Given the description of an element on the screen output the (x, y) to click on. 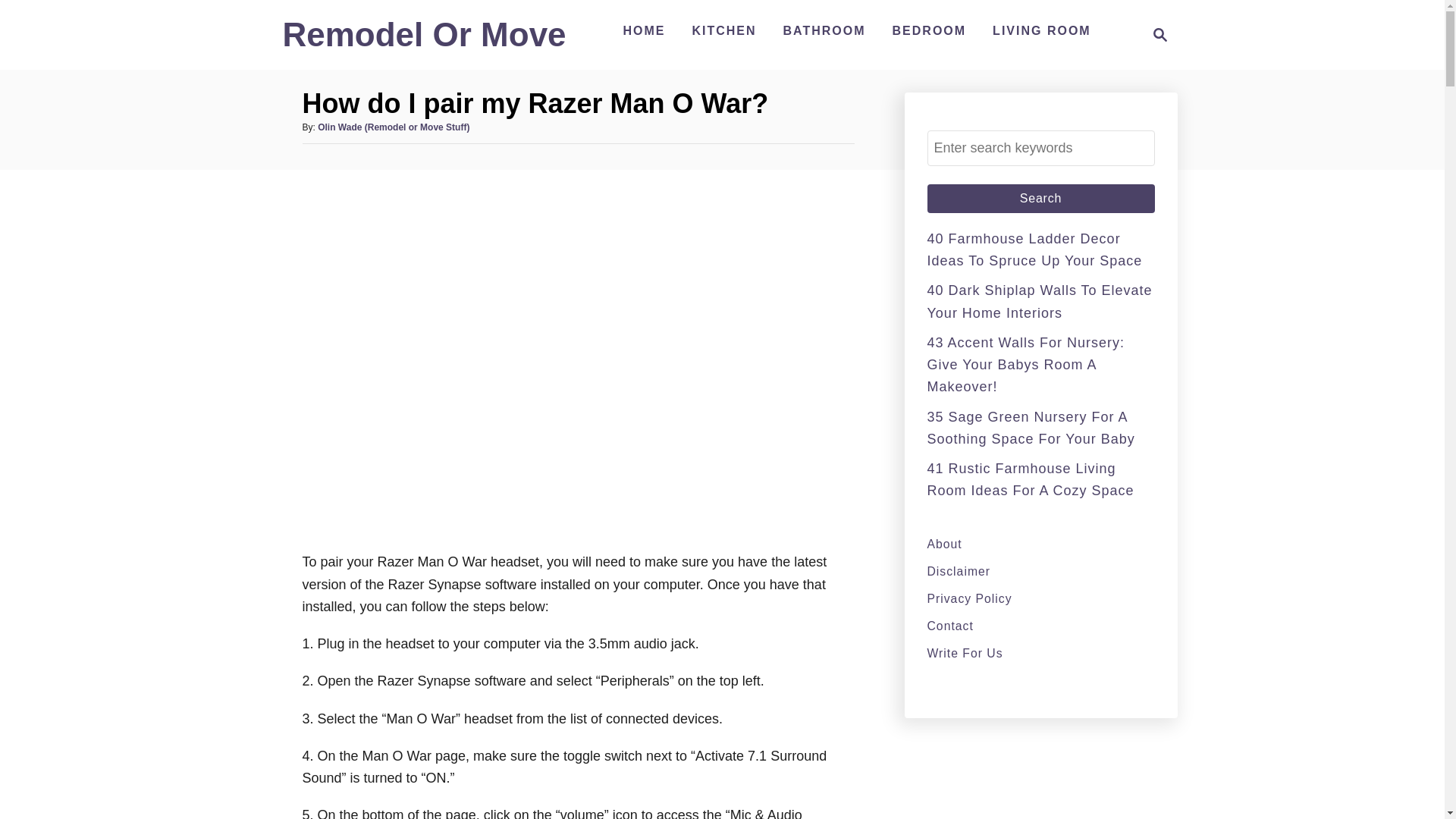
Remodel Or Move (424, 41)
BEDROOM (929, 30)
BATHROOM (824, 30)
LIVING ROOM (1155, 34)
Search (1042, 30)
40 Dark Shiplap Walls To Elevate Your Home Interiors (1040, 198)
About (1038, 301)
HOME (1040, 543)
Write For Us (643, 30)
